Given the description of an element on the screen output the (x, y) to click on. 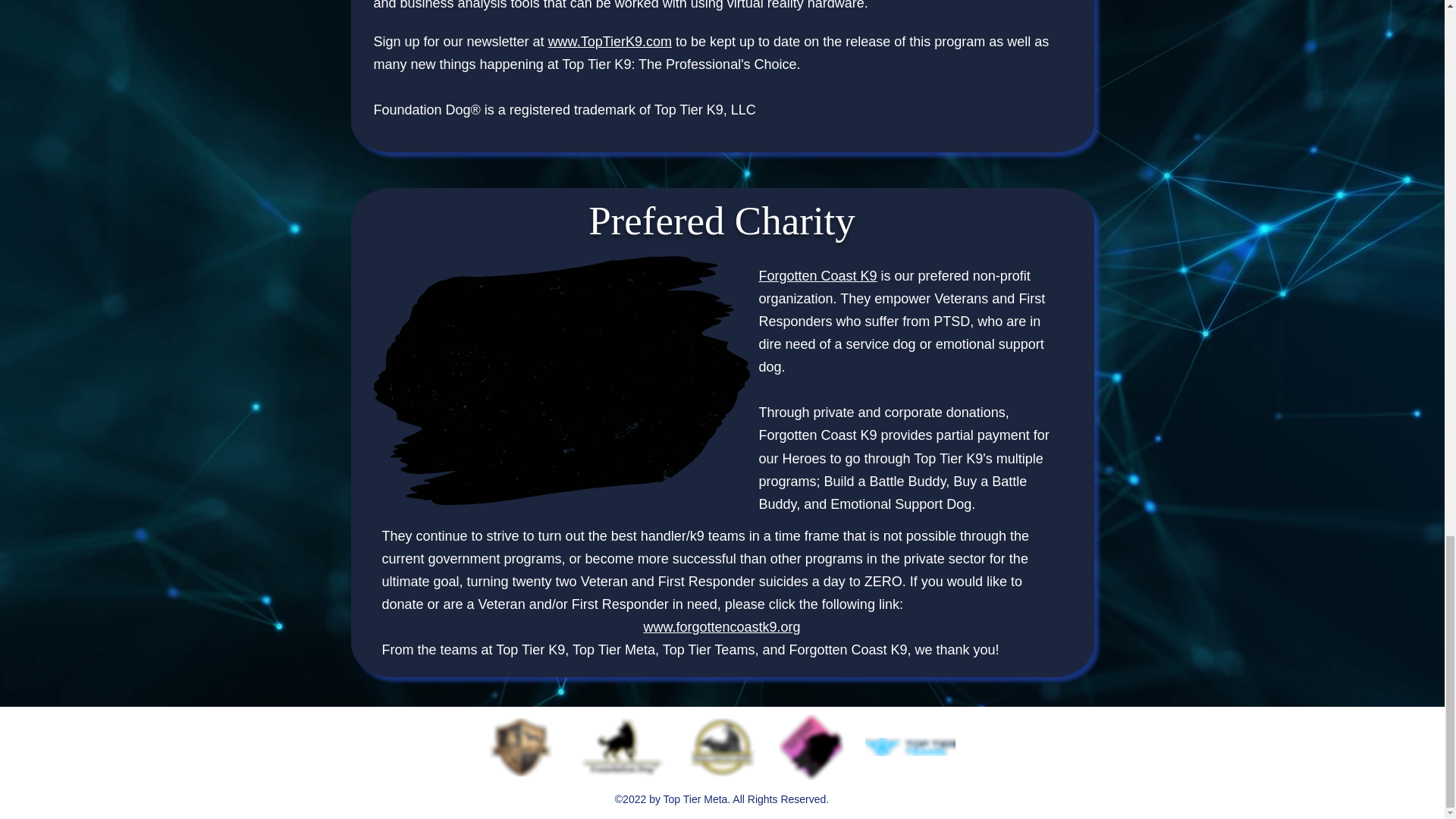
Forgotten Coast K9 (817, 275)
www.TopTierK9.com (609, 41)
www.forgottencoastk9.org (721, 626)
